Given the description of an element on the screen output the (x, y) to click on. 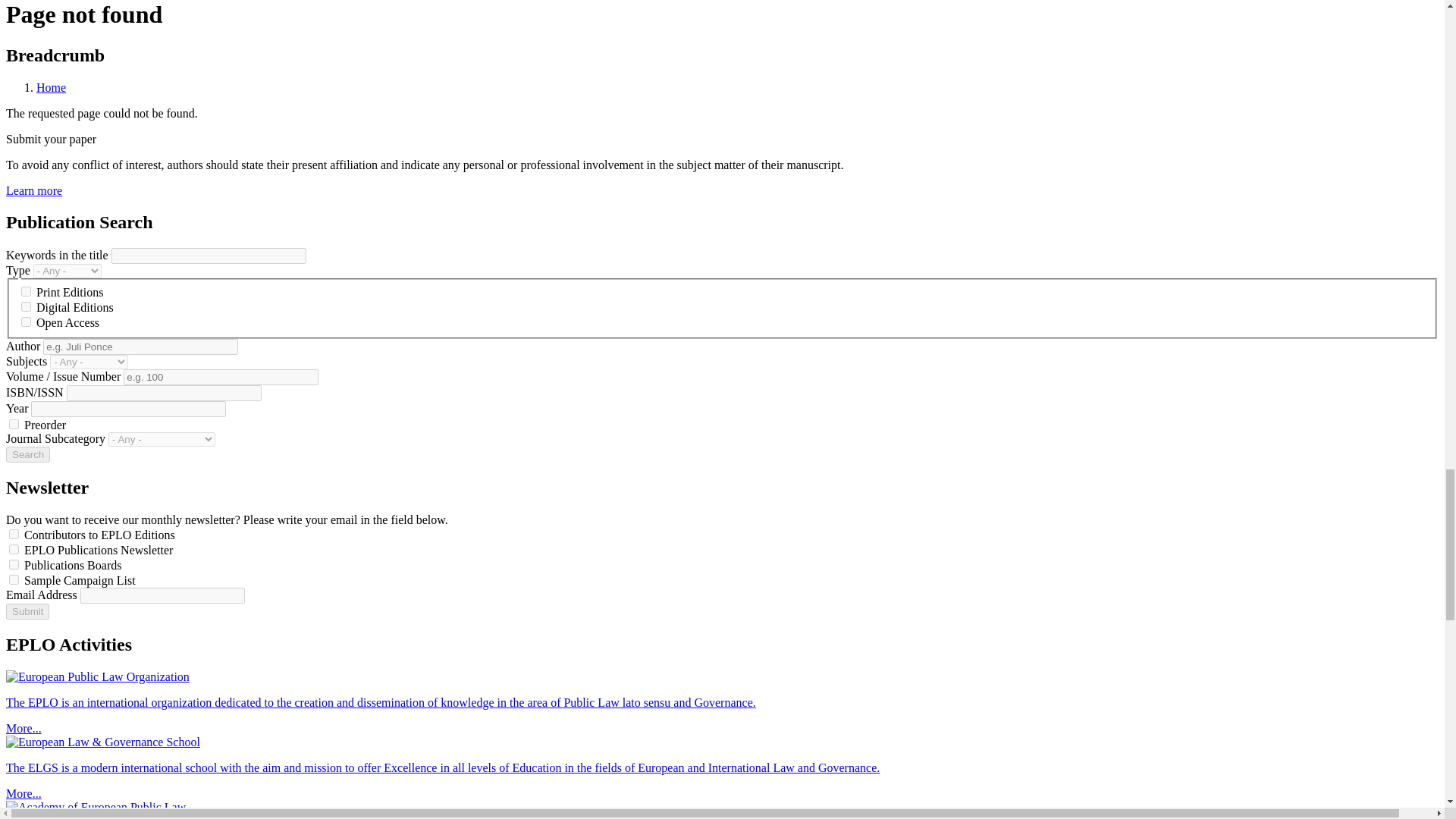
34c89a7f1b (13, 579)
Search (27, 454)
70bb510485 (13, 549)
Submit (27, 611)
Academy of European Public Law (95, 807)
print (25, 291)
open (25, 321)
1 (13, 424)
digital (25, 307)
European Public Law Organization (97, 676)
170286d93e (13, 533)
eb0aa4856e (13, 564)
